Given the description of an element on the screen output the (x, y) to click on. 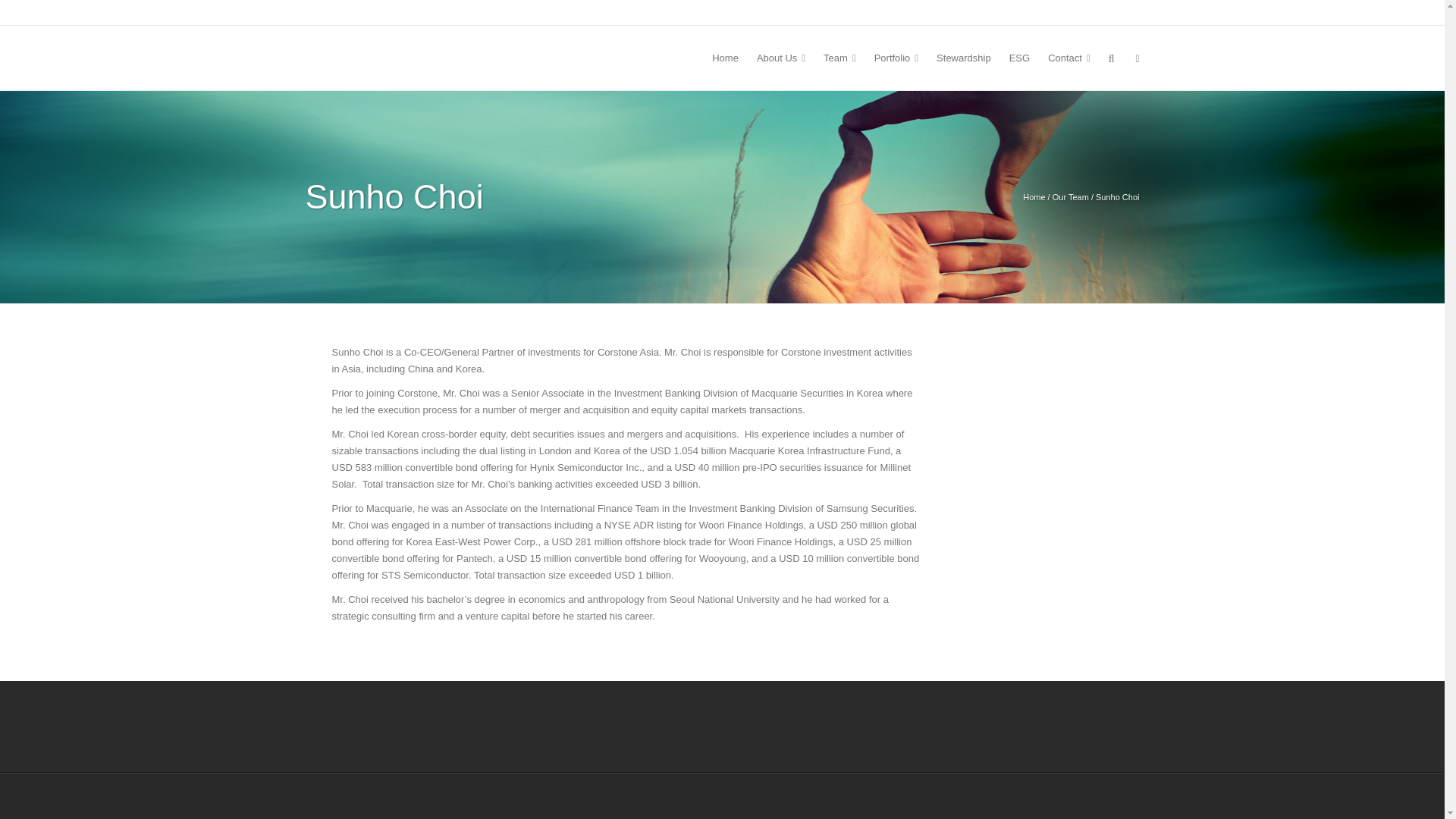
Stewardship (963, 57)
Contact (1069, 57)
Portfolio (895, 57)
About Us (780, 57)
Our Team (1070, 196)
Home (1034, 196)
